Given the description of an element on the screen output the (x, y) to click on. 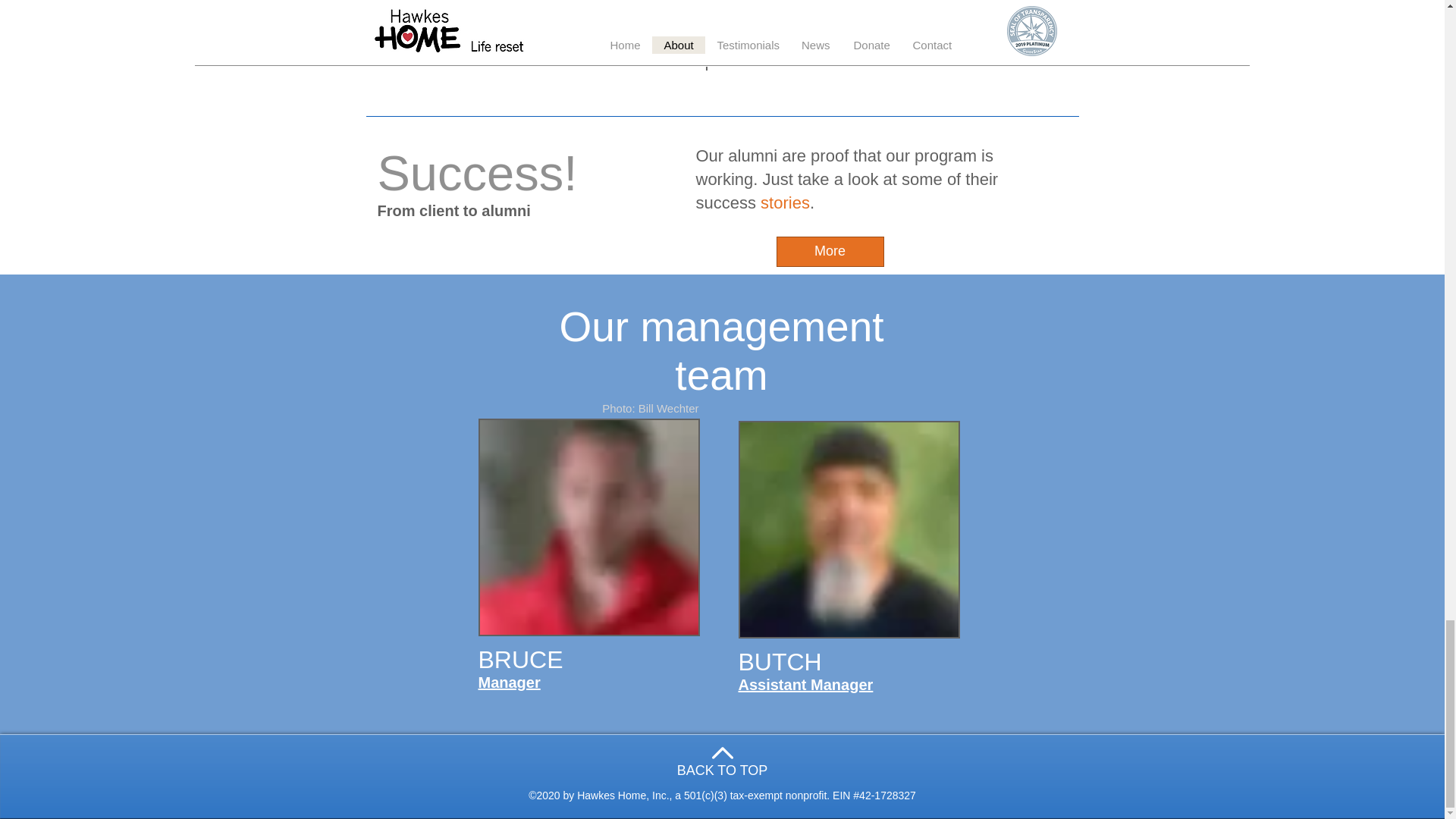
Assistant Manager (805, 684)
stories (784, 202)
BACK TO TOP (722, 770)
BUTCH (780, 661)
More (829, 251)
BRUCE (519, 659)
Manager (508, 682)
